Given the description of an element on the screen output the (x, y) to click on. 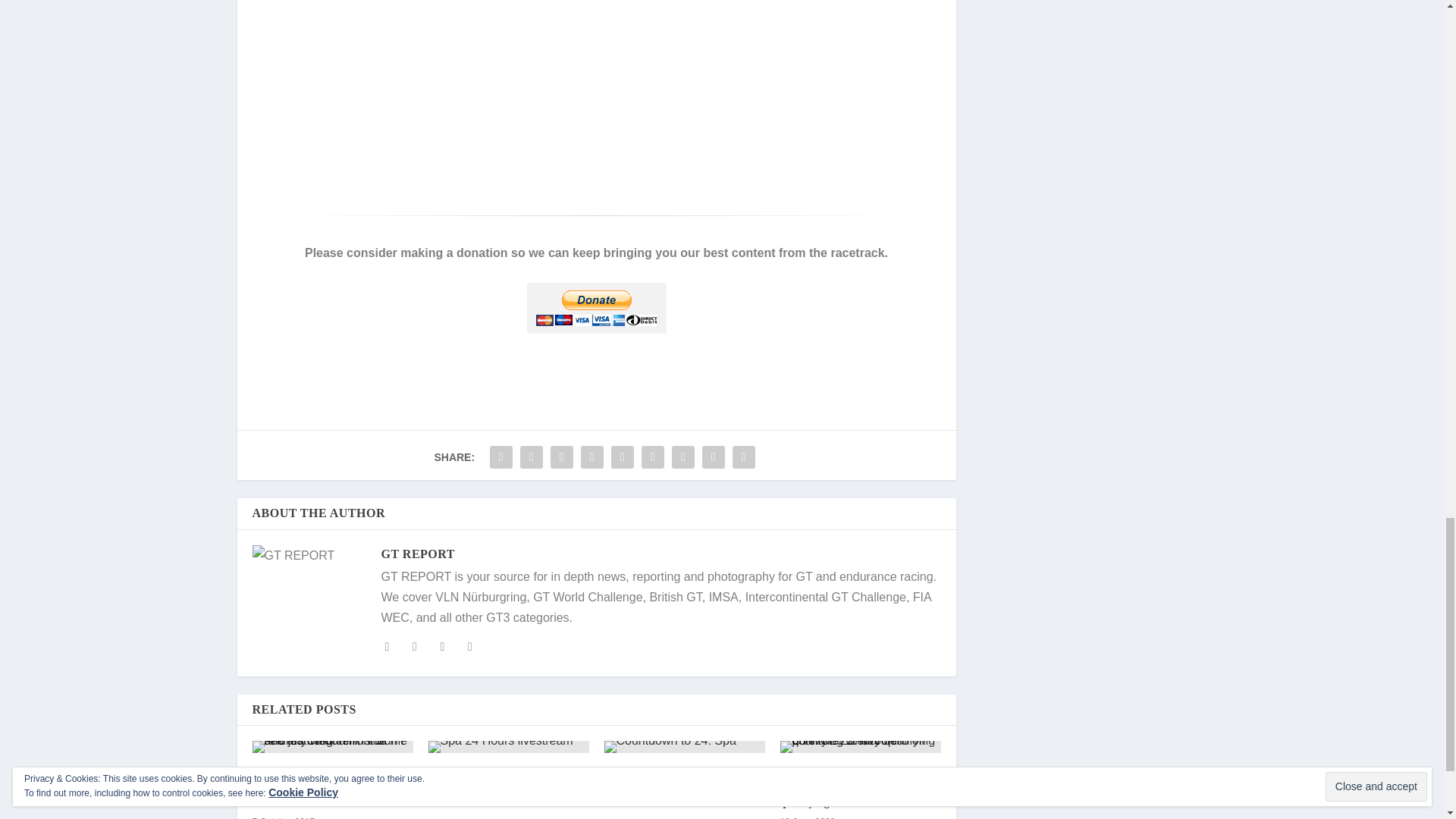
Share "Blancpain GT Zolder live stream" via Print (743, 457)
Share "Blancpain GT Zolder live stream" via LinkedIn (622, 457)
Countdown to 24: Spa (684, 746)
Spa 24 Hours livestream (508, 746)
Share "Blancpain GT Zolder live stream" via Twitter (531, 457)
Share "Blancpain GT Zolder live stream" via Tumblr (561, 457)
Share "Blancpain GT Zolder live stream" via Buffer (652, 457)
Share "Blancpain GT Zolder live stream" via Pinterest (591, 457)
View all posts by GT REPORT (417, 553)
Share "Blancpain GT Zolder live stream" via Email (713, 457)
Share "Blancpain GT Zolder live stream" via Stumbleupon (683, 457)
Share "Blancpain GT Zolder live stream" via Facebook (501, 457)
